Given the description of an element on the screen output the (x, y) to click on. 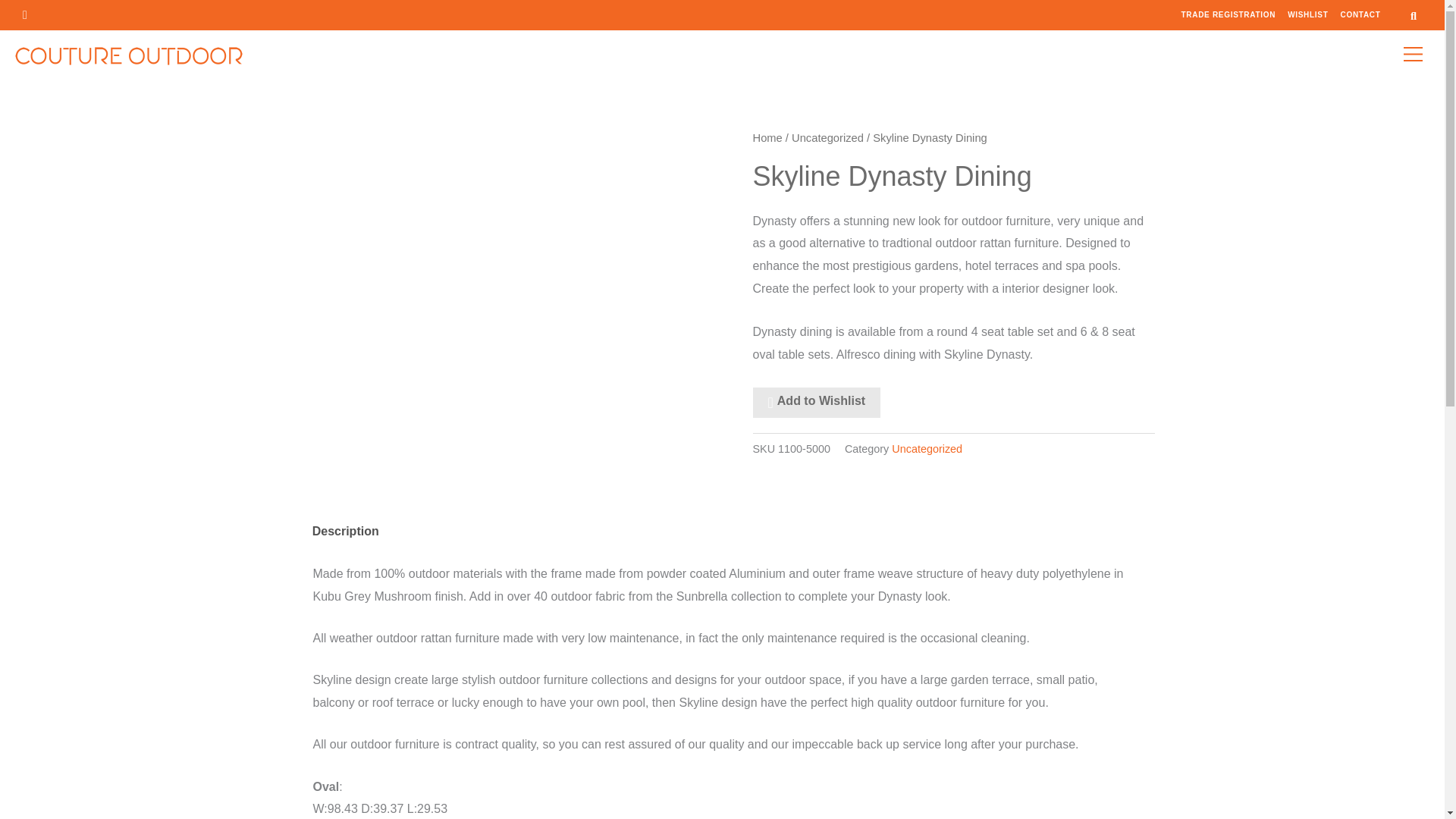
WISHLIST (1307, 15)
CONTACT (1361, 15)
TRADE REGISTRATION (1227, 15)
